Given the description of an element on the screen output the (x, y) to click on. 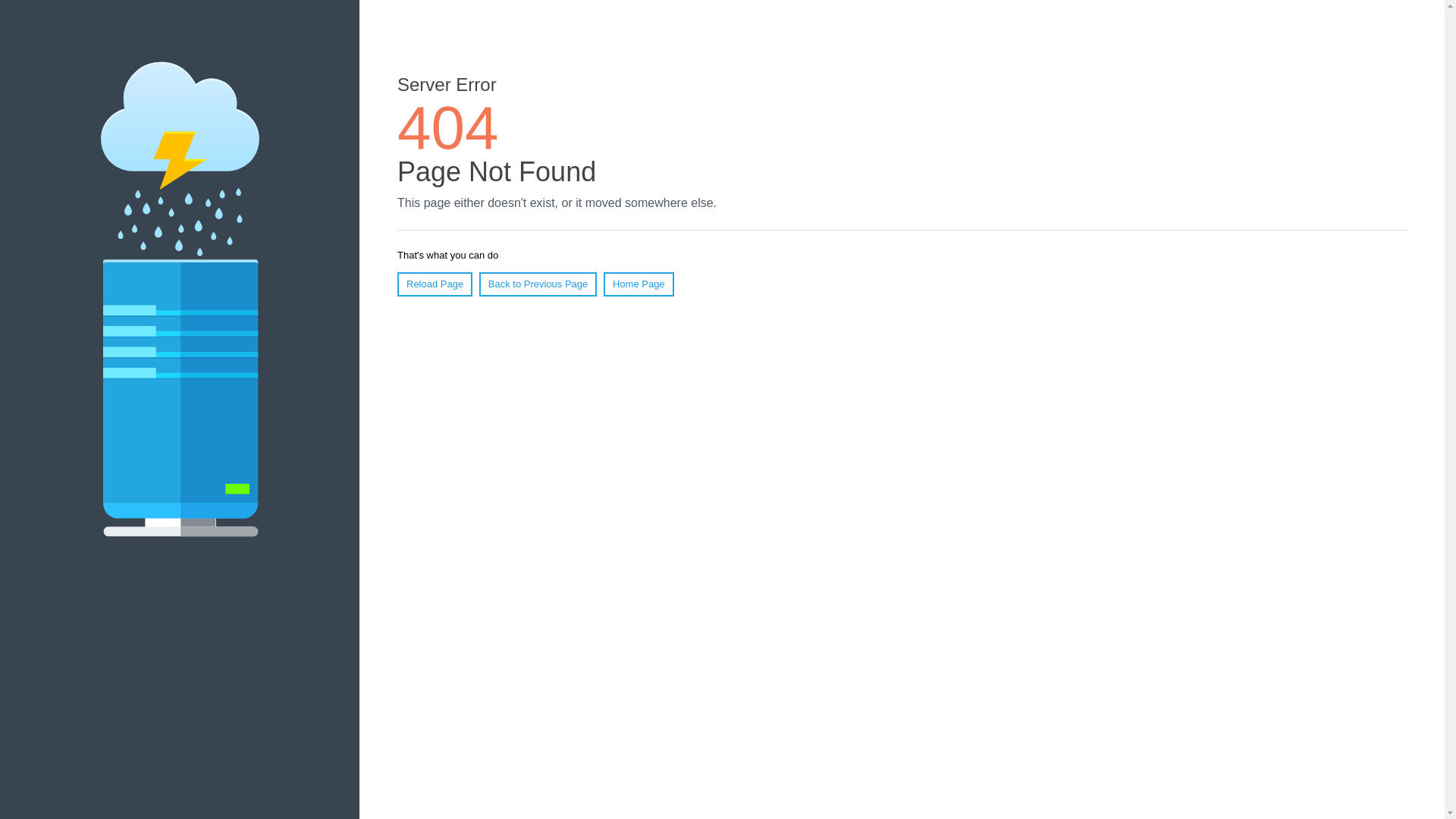
Home Page Element type: text (638, 284)
Back to Previous Page Element type: text (538, 284)
Reload Page Element type: text (434, 284)
